Given the description of an element on the screen output the (x, y) to click on. 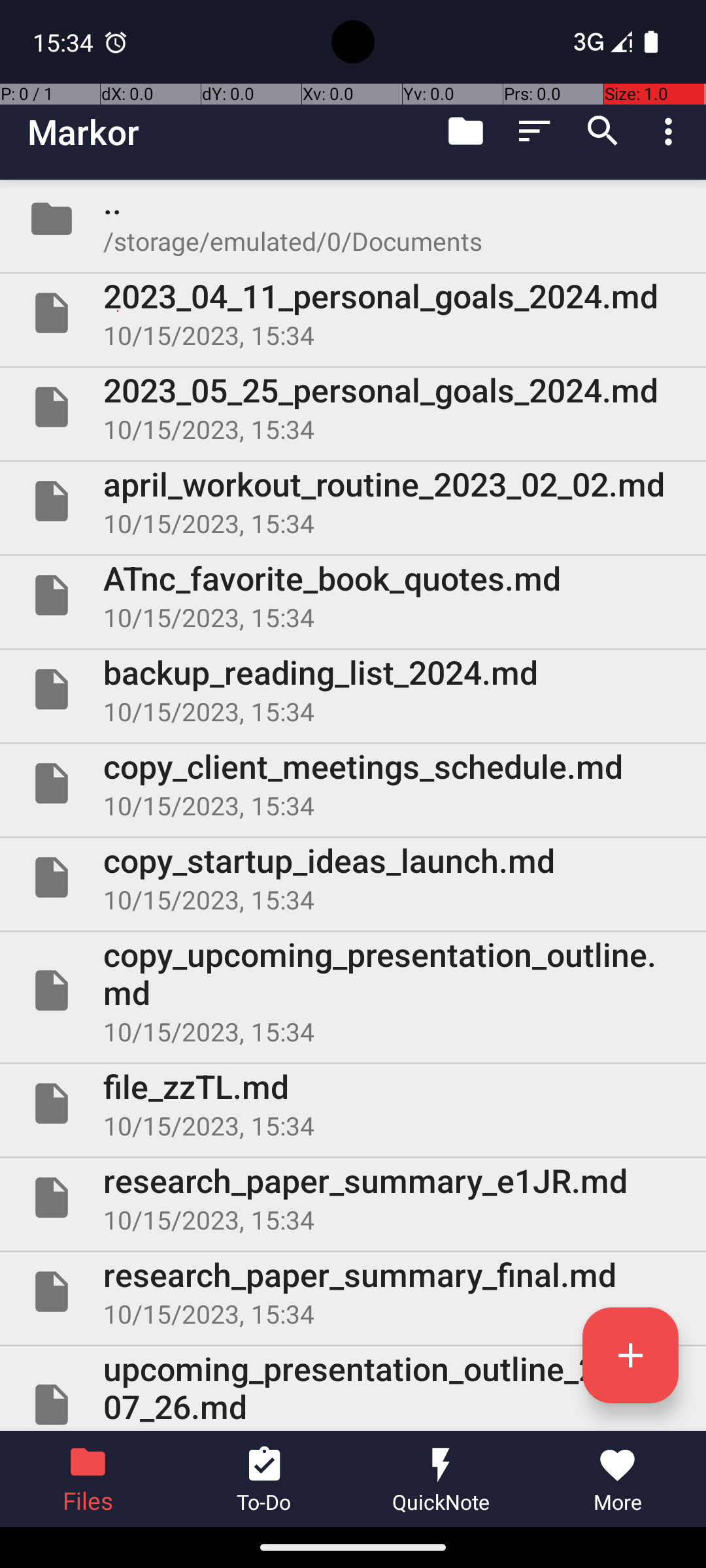
File 2023_04_11_personal_goals_2024.md  Element type: android.widget.LinearLayout (353, 312)
File 2023_05_25_personal_goals_2024.md  Element type: android.widget.LinearLayout (353, 406)
File april_workout_routine_2023_02_02.md  Element type: android.widget.LinearLayout (353, 500)
File ATnc_favorite_book_quotes.md  Element type: android.widget.LinearLayout (353, 594)
File backup_reading_list_2024.md  Element type: android.widget.LinearLayout (353, 689)
File copy_client_meetings_schedule.md  Element type: android.widget.LinearLayout (353, 783)
File copy_startup_ideas_launch.md  Element type: android.widget.LinearLayout (353, 877)
File copy_upcoming_presentation_outline.md  Element type: android.widget.LinearLayout (353, 990)
File file_zzTL.md  Element type: android.widget.LinearLayout (353, 1103)
File research_paper_summary_e1JR.md  Element type: android.widget.LinearLayout (353, 1197)
File research_paper_summary_final.md  Element type: android.widget.LinearLayout (353, 1291)
File upcoming_presentation_outline_2023_07_26.md  Element type: android.widget.LinearLayout (353, 1388)
